Given the description of an element on the screen output the (x, y) to click on. 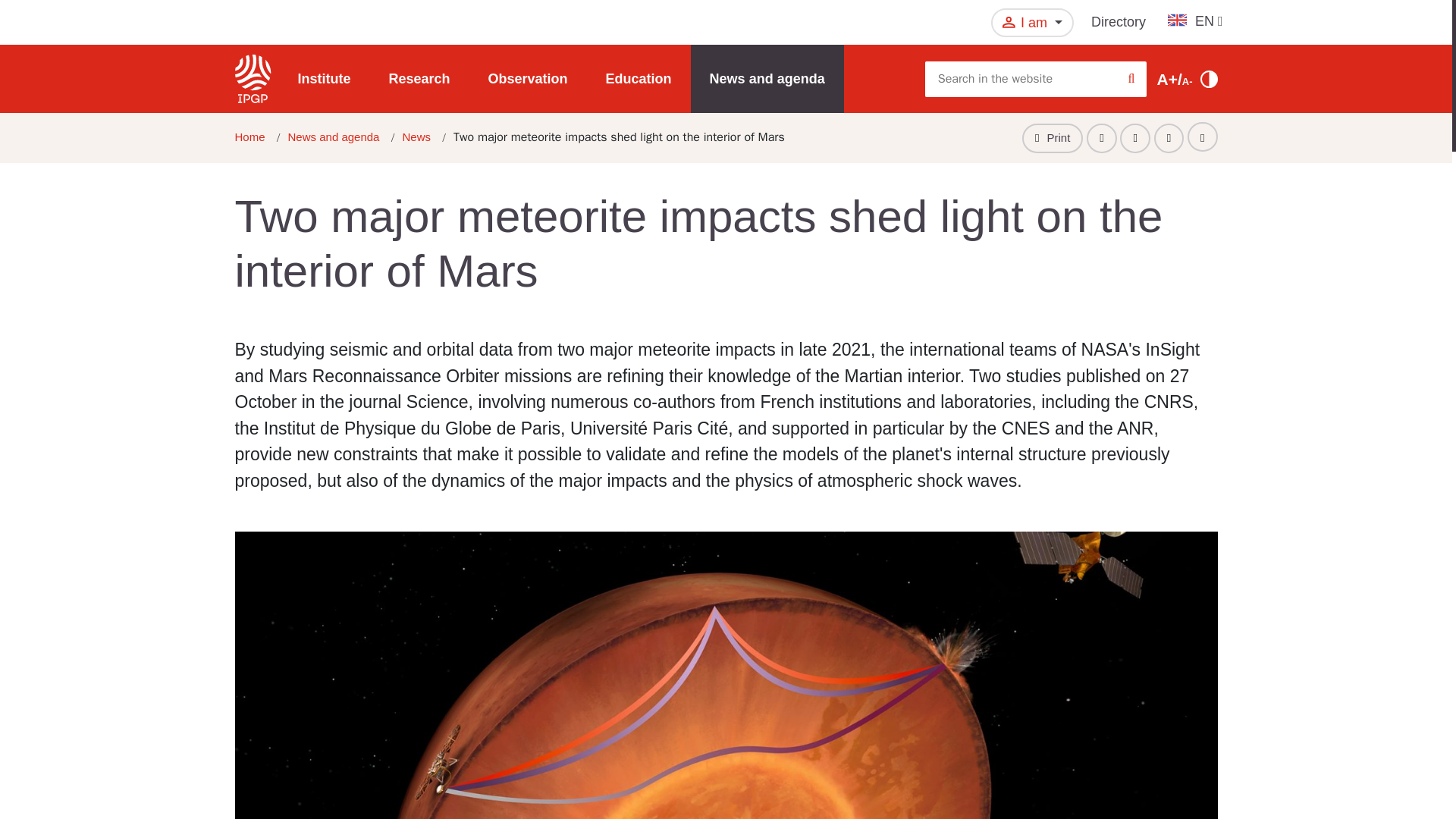
News and agenda (334, 136)
Home (249, 136)
News (415, 136)
